Given the description of an element on the screen output the (x, y) to click on. 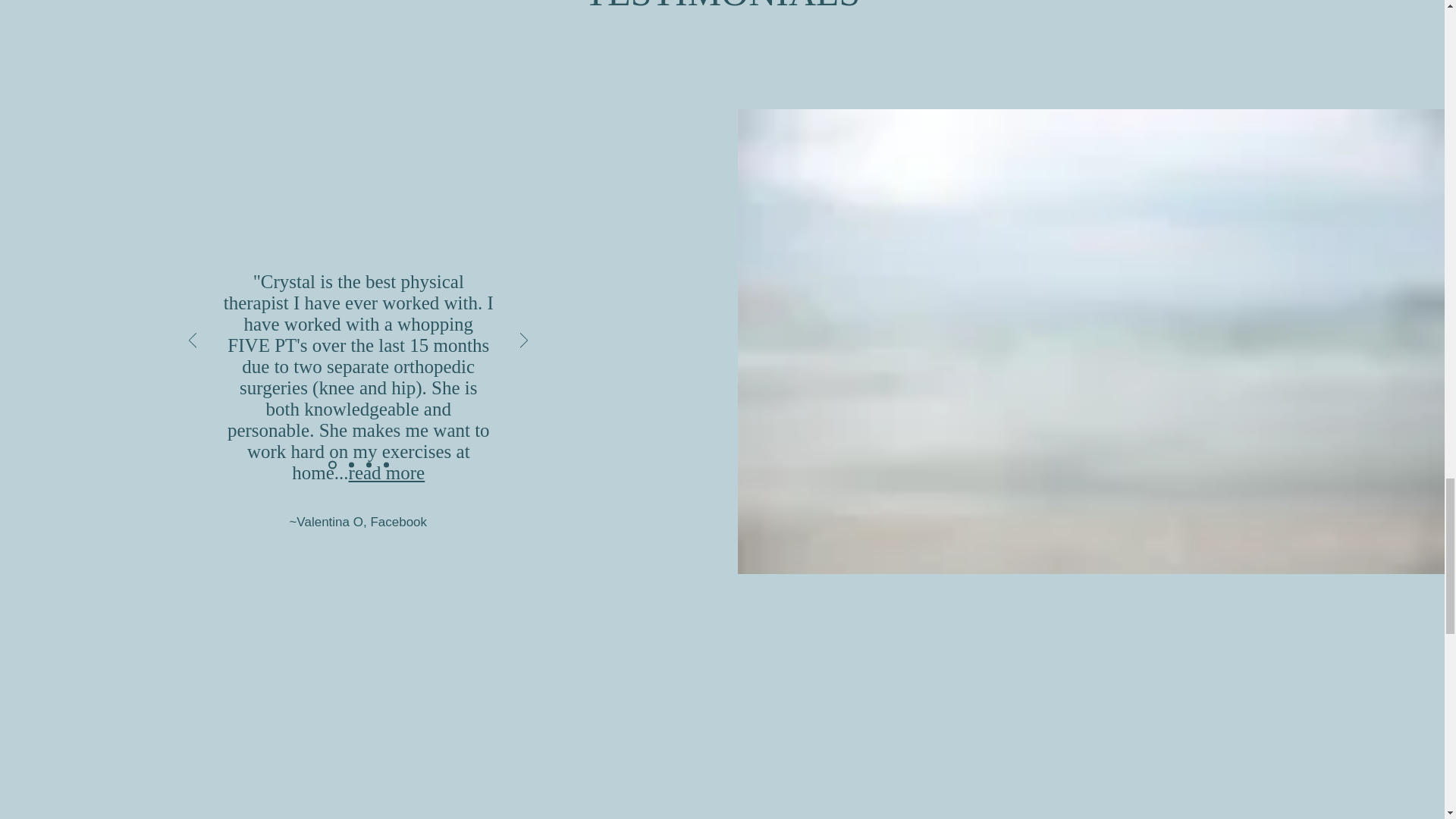
read more (387, 472)
